Given the description of an element on the screen output the (x, y) to click on. 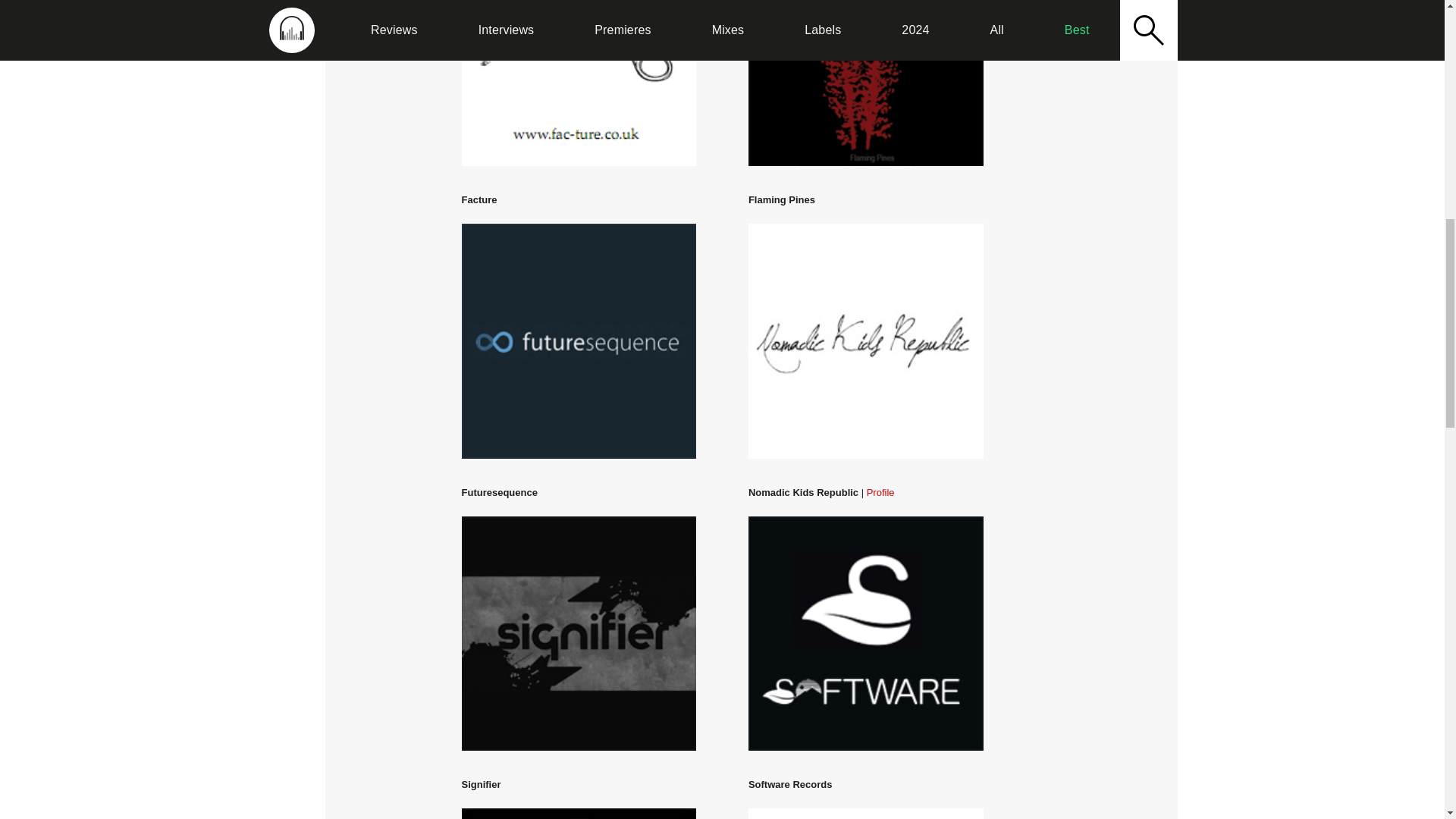
Profile (880, 491)
